Given the description of an element on the screen output the (x, y) to click on. 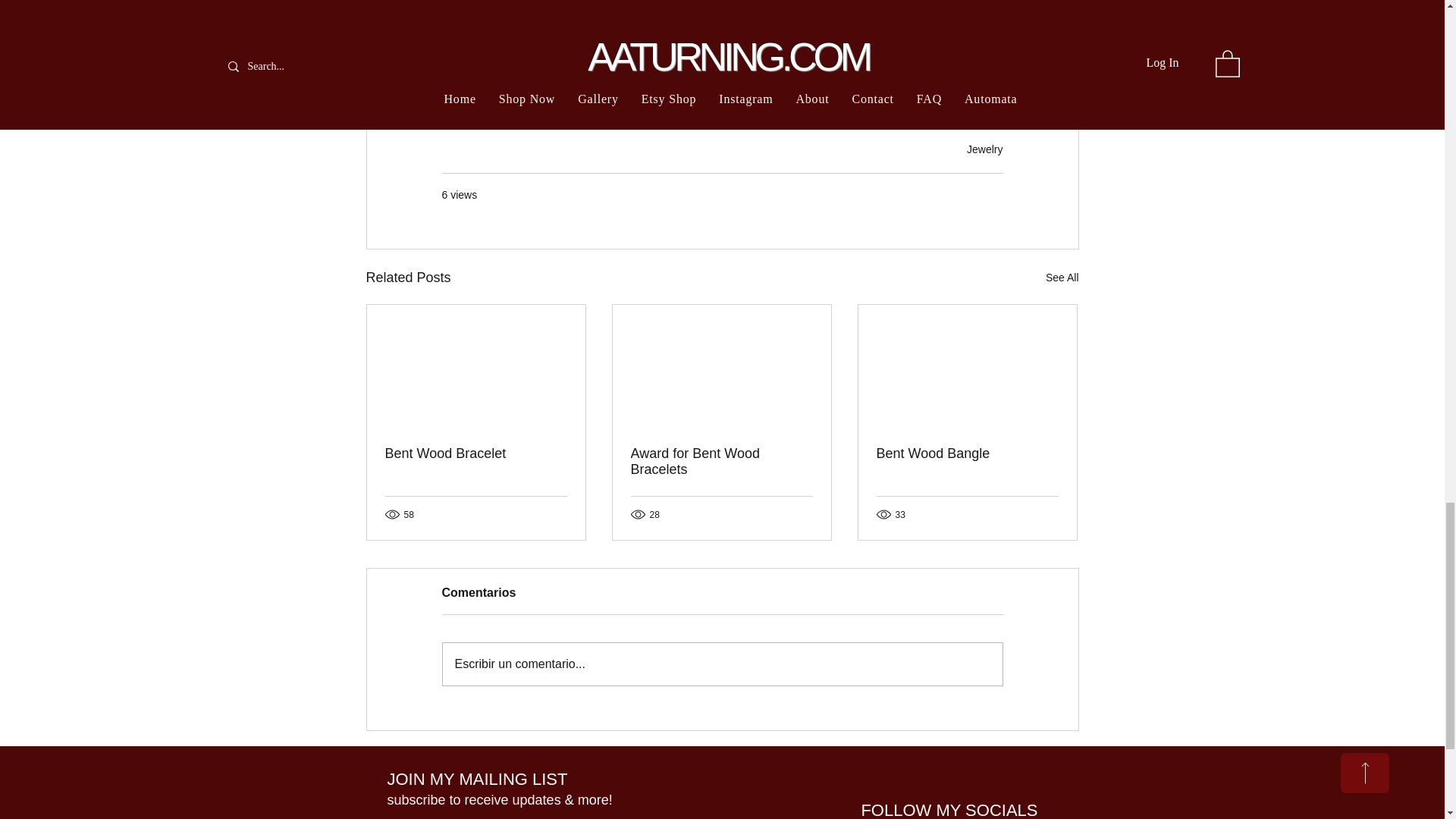
Wood Pendant (486, 92)
See All (1061, 277)
Handmade Jewelry (732, 63)
Alan Adler (561, 63)
Wood Necklace (932, 63)
Jewelry (984, 149)
AATurning (635, 63)
Wood Jewelry (836, 63)
Woodturning (481, 63)
